Given the description of an element on the screen output the (x, y) to click on. 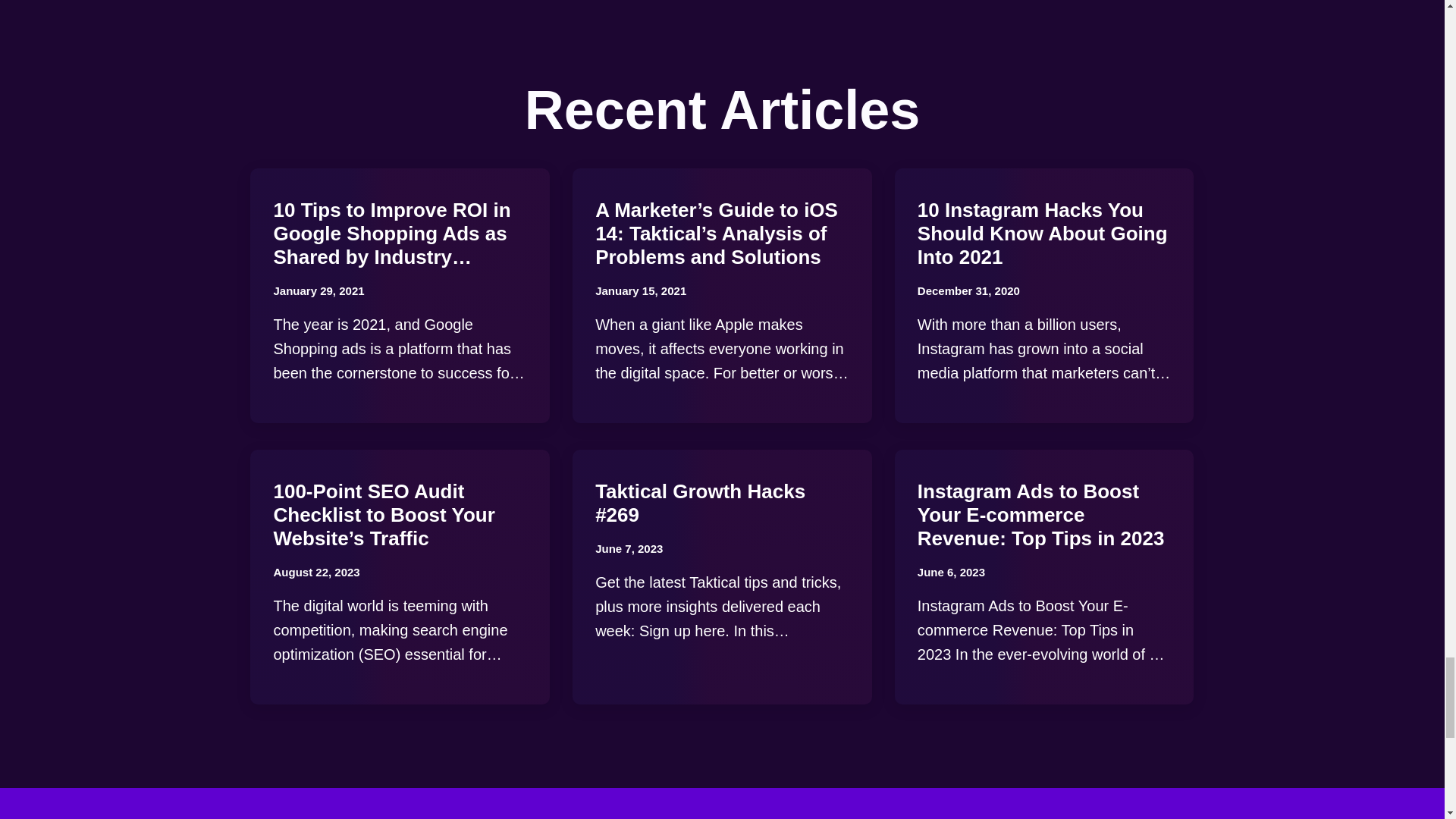
10 Instagram Hacks You Should Know About Going Into 2021 (1042, 233)
